Given the description of an element on the screen output the (x, y) to click on. 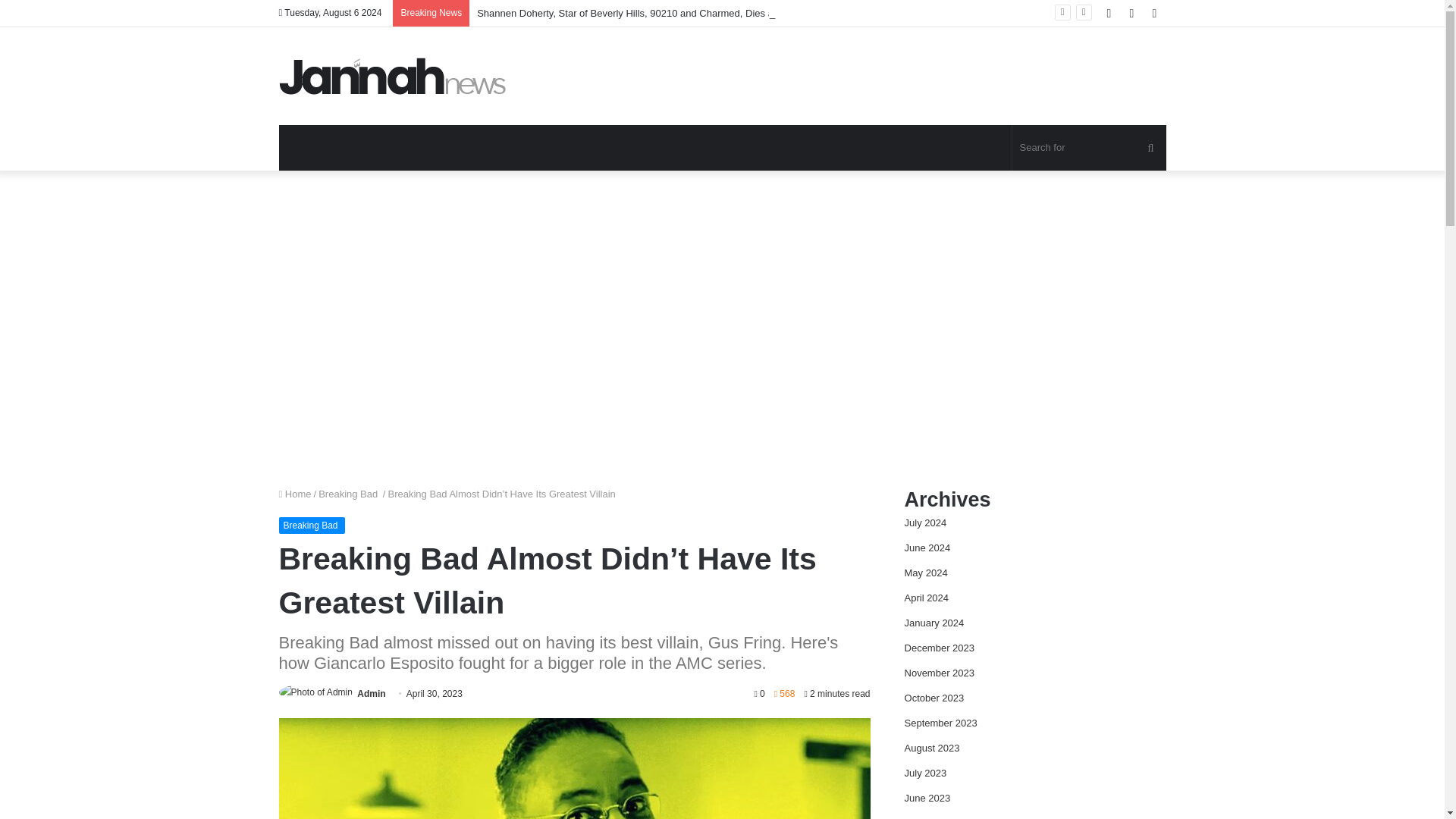
Random Article (1131, 13)
Movie News (392, 76)
Breaking Bad  (349, 493)
Sidebar (1154, 13)
Home (295, 493)
Breaking Bad  (312, 524)
Search for (1150, 147)
Log In (1109, 13)
Random Article (1131, 13)
Admin (370, 693)
Admin (370, 693)
Search for (1088, 147)
